Given the description of an element on the screen output the (x, y) to click on. 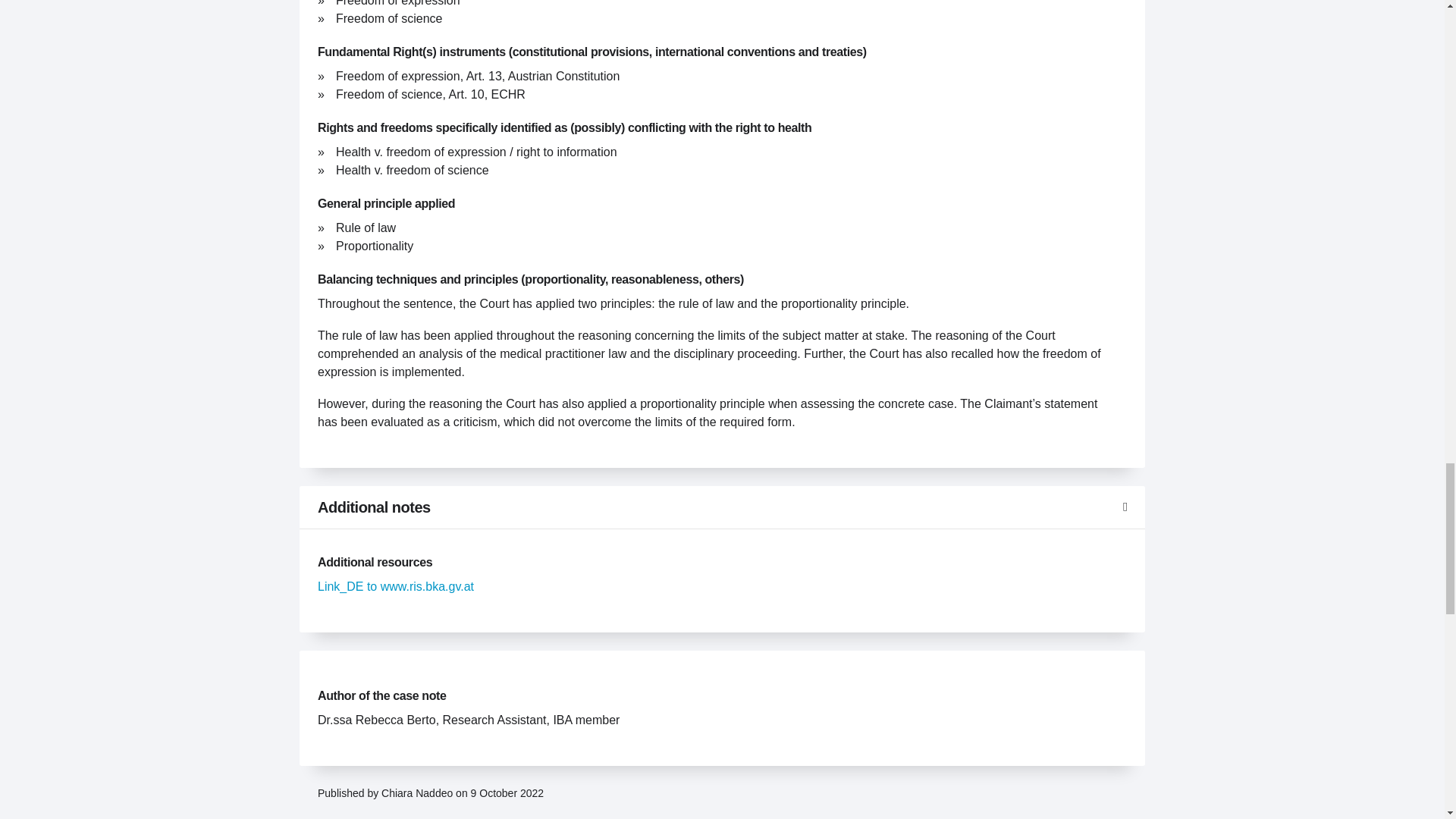
Additional notes (721, 506)
